Given the description of an element on the screen output the (x, y) to click on. 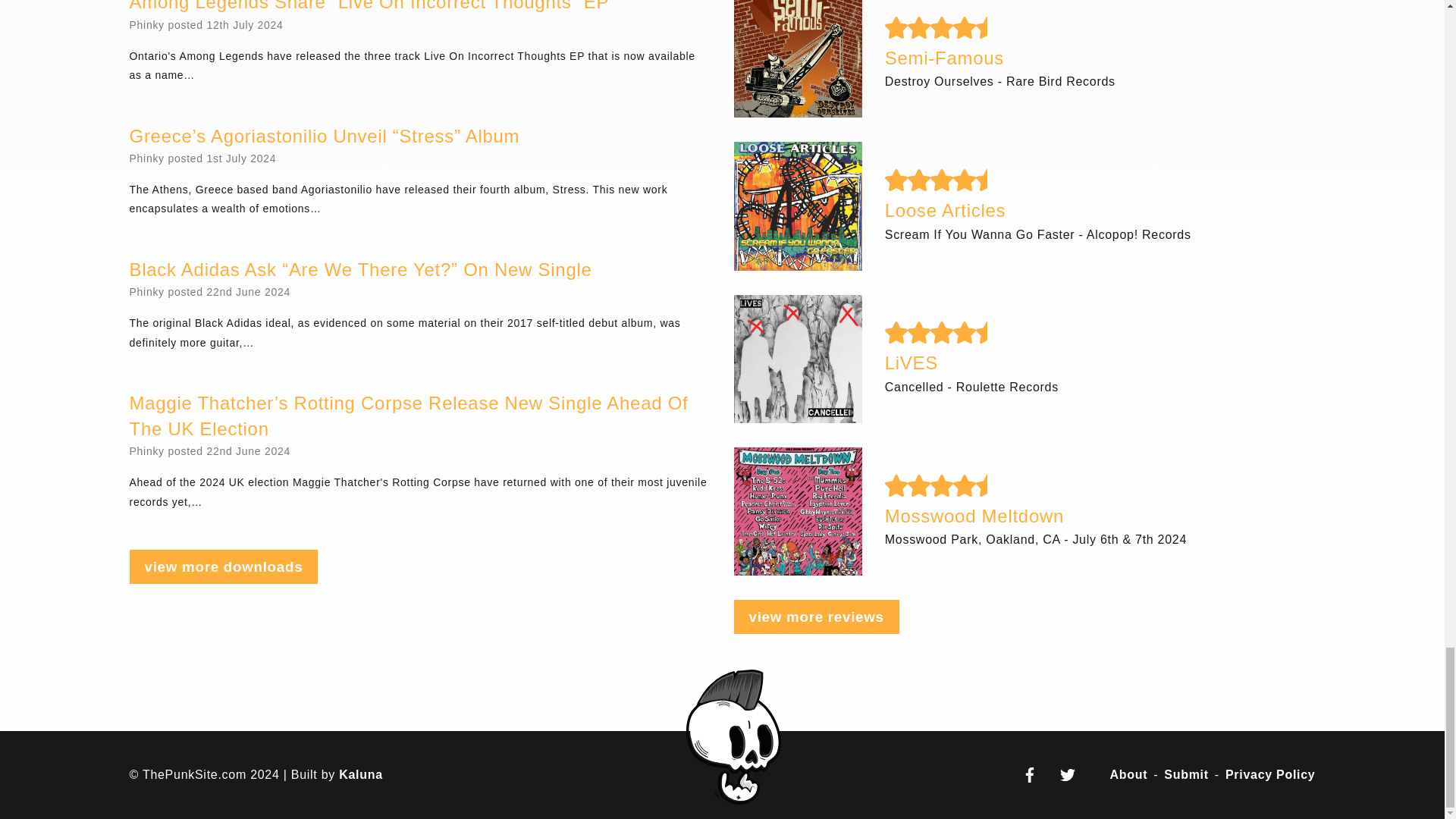
Continue reading Mosswood Meltdown Festival (797, 511)
